Given the description of an element on the screen output the (x, y) to click on. 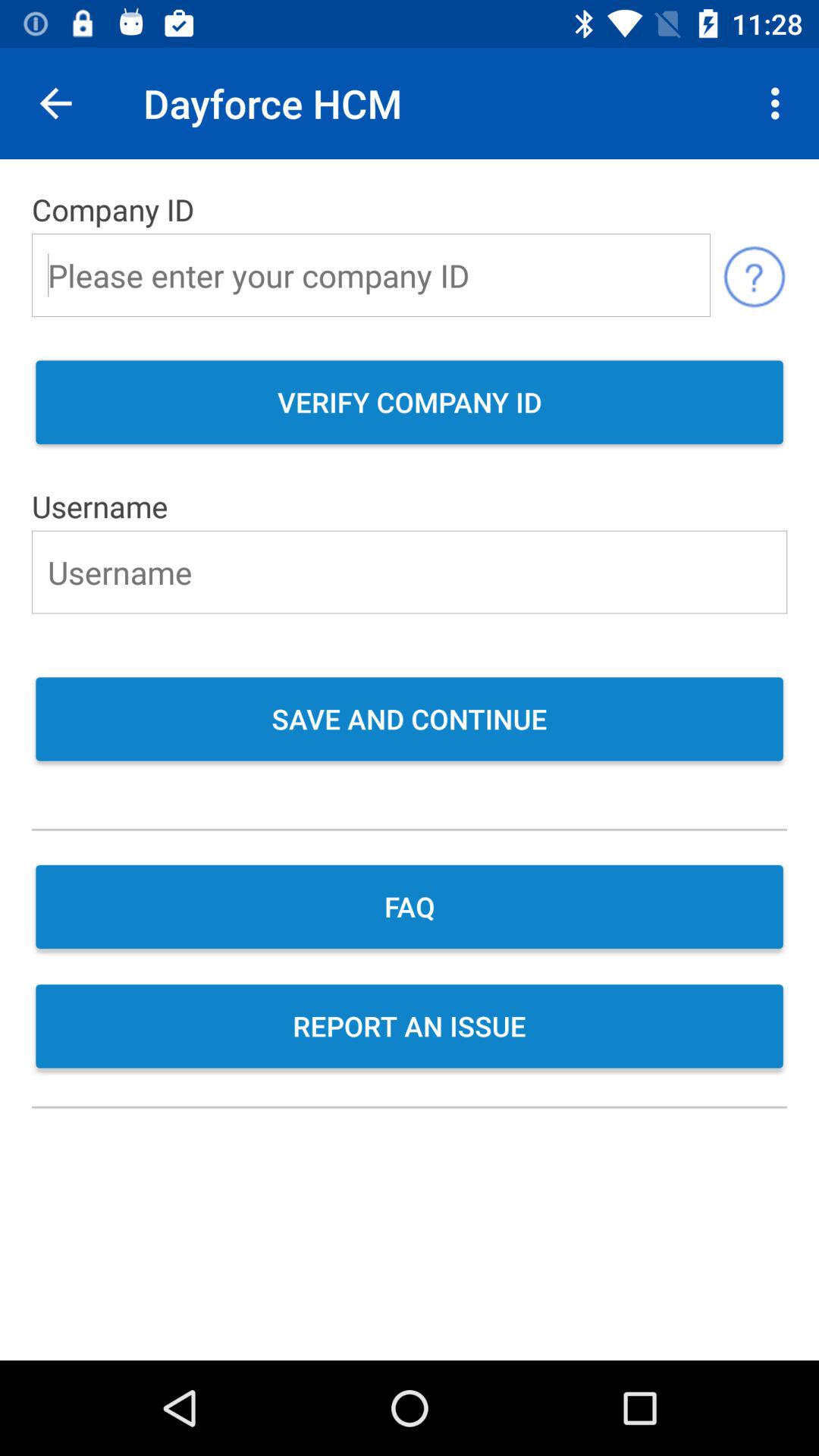
choose faq item (409, 908)
